Given the description of an element on the screen output the (x, y) to click on. 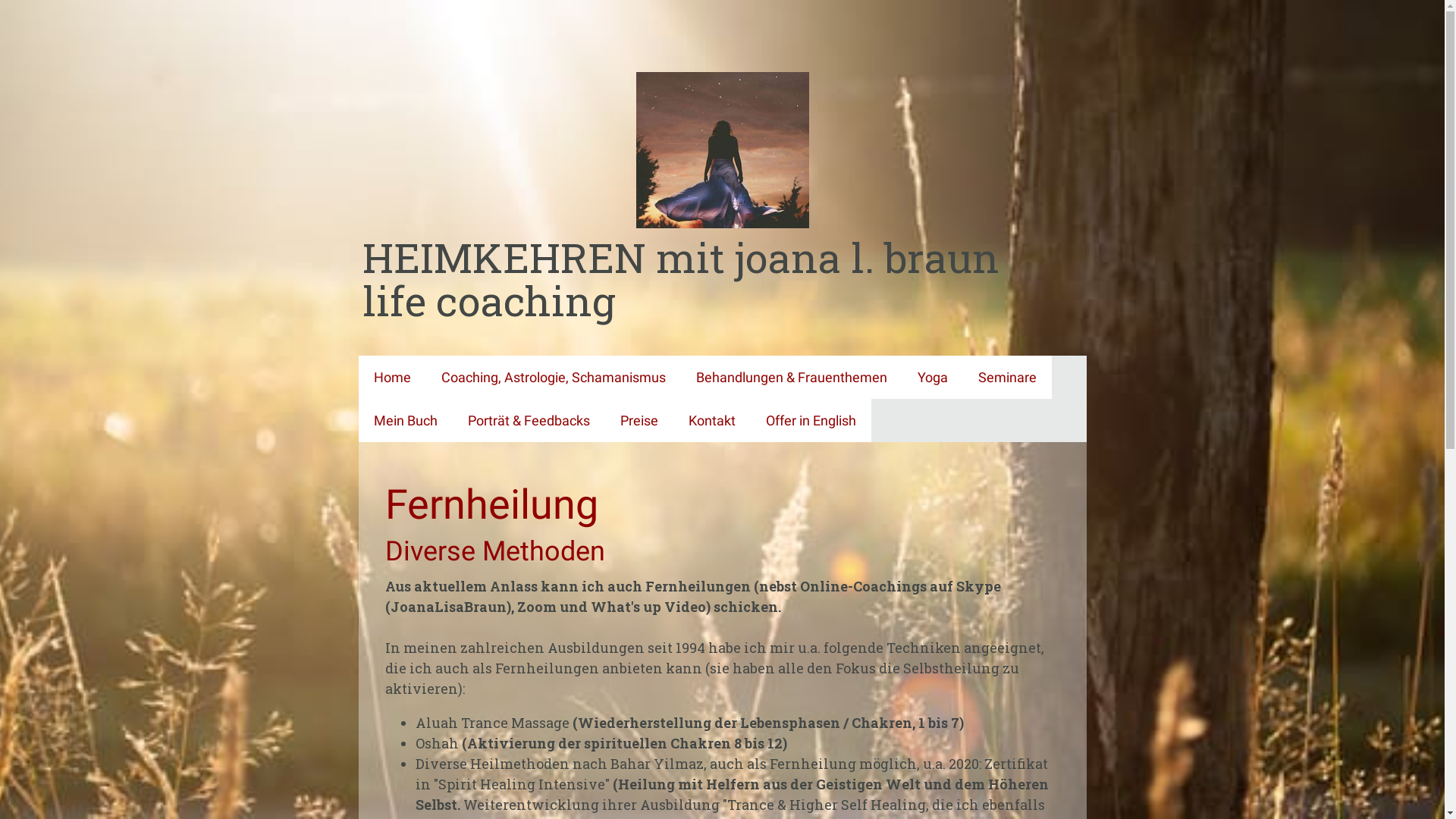
Mein Buch Element type: text (404, 420)
Preise Element type: text (639, 420)
Behandlungen & Frauenthemen Element type: text (791, 376)
Kontakt Element type: text (711, 420)
Offer in English Element type: text (810, 420)
HEIMKEHREN mit joana l. braun
life coaching Element type: text (722, 278)
Home Element type: text (391, 376)
Yoga Element type: text (932, 376)
Coaching, Astrologie, Schamanismus Element type: text (553, 376)
Seminare Element type: text (1007, 376)
